Given the description of an element on the screen output the (x, y) to click on. 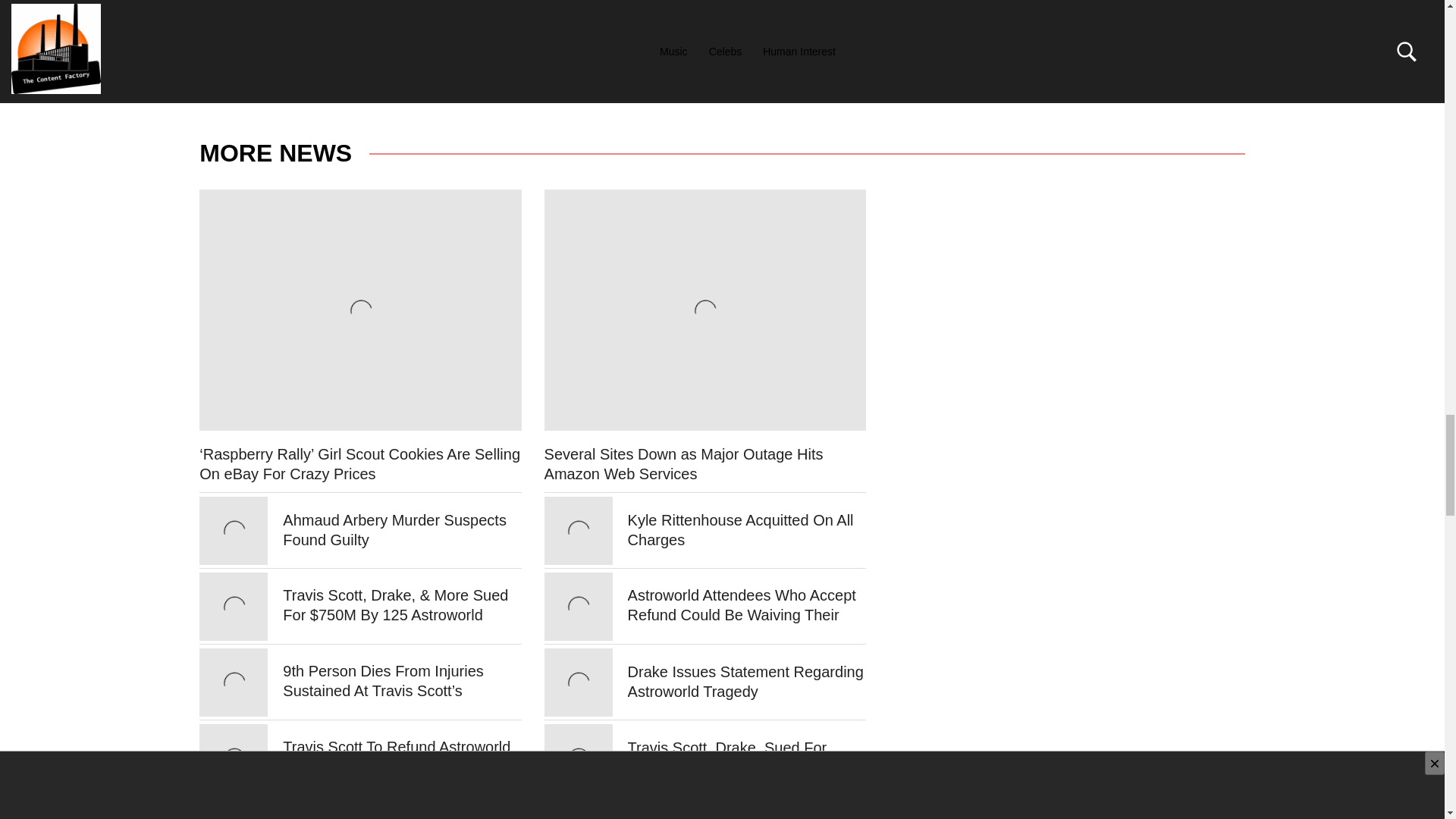
Autumn Hawkins (294, 47)
Autumn Hawkins (294, 47)
SAGE STEELE (384, 82)
BARACK OBAMA (288, 82)
News (272, 65)
